Given the description of an element on the screen output the (x, y) to click on. 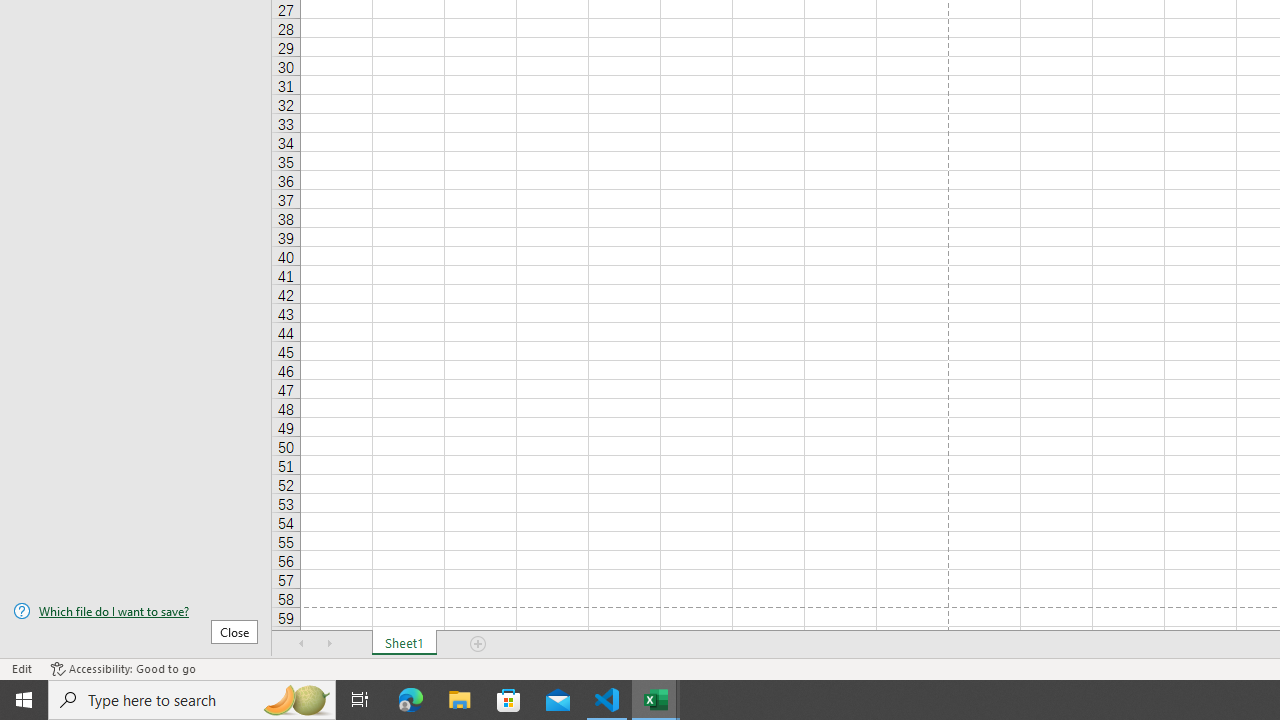
Sheet1 (404, 644)
Add Sheet (478, 644)
Accessibility Checker Accessibility: Good to go (123, 668)
Which file do I want to save? (136, 611)
Scroll Right (330, 644)
Scroll Left (302, 644)
